Given the description of an element on the screen output the (x, y) to click on. 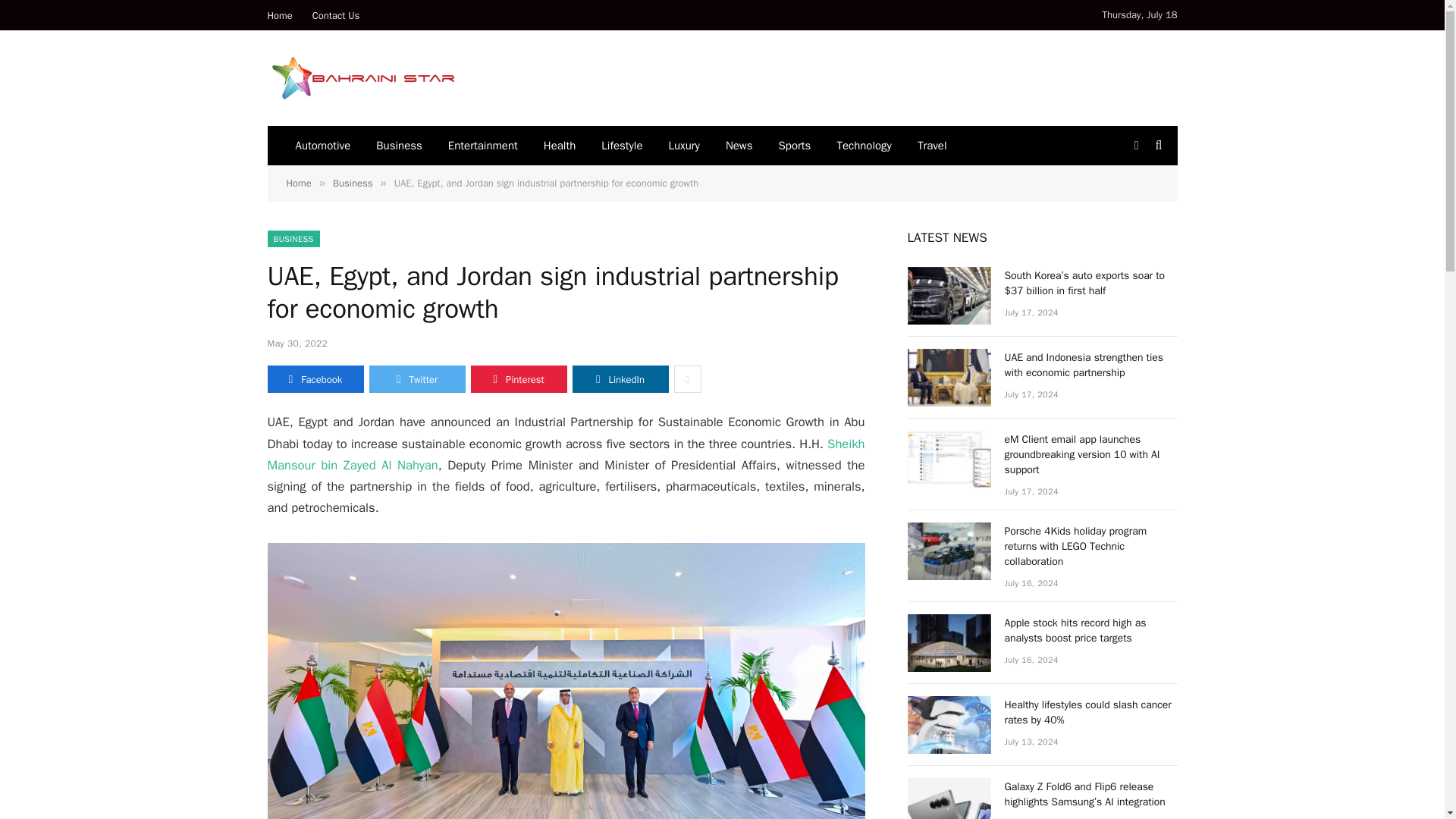
Sports (794, 145)
Travel (931, 145)
Technology (864, 145)
Home (279, 15)
Share on LinkedIn (620, 379)
Business (352, 182)
Automotive (322, 145)
Facebook (314, 379)
Pinterest (518, 379)
Twitter (416, 379)
Business (398, 145)
LinkedIn (620, 379)
Search (1157, 145)
Lifestyle (621, 145)
Luxury (684, 145)
